Given the description of an element on the screen output the (x, y) to click on. 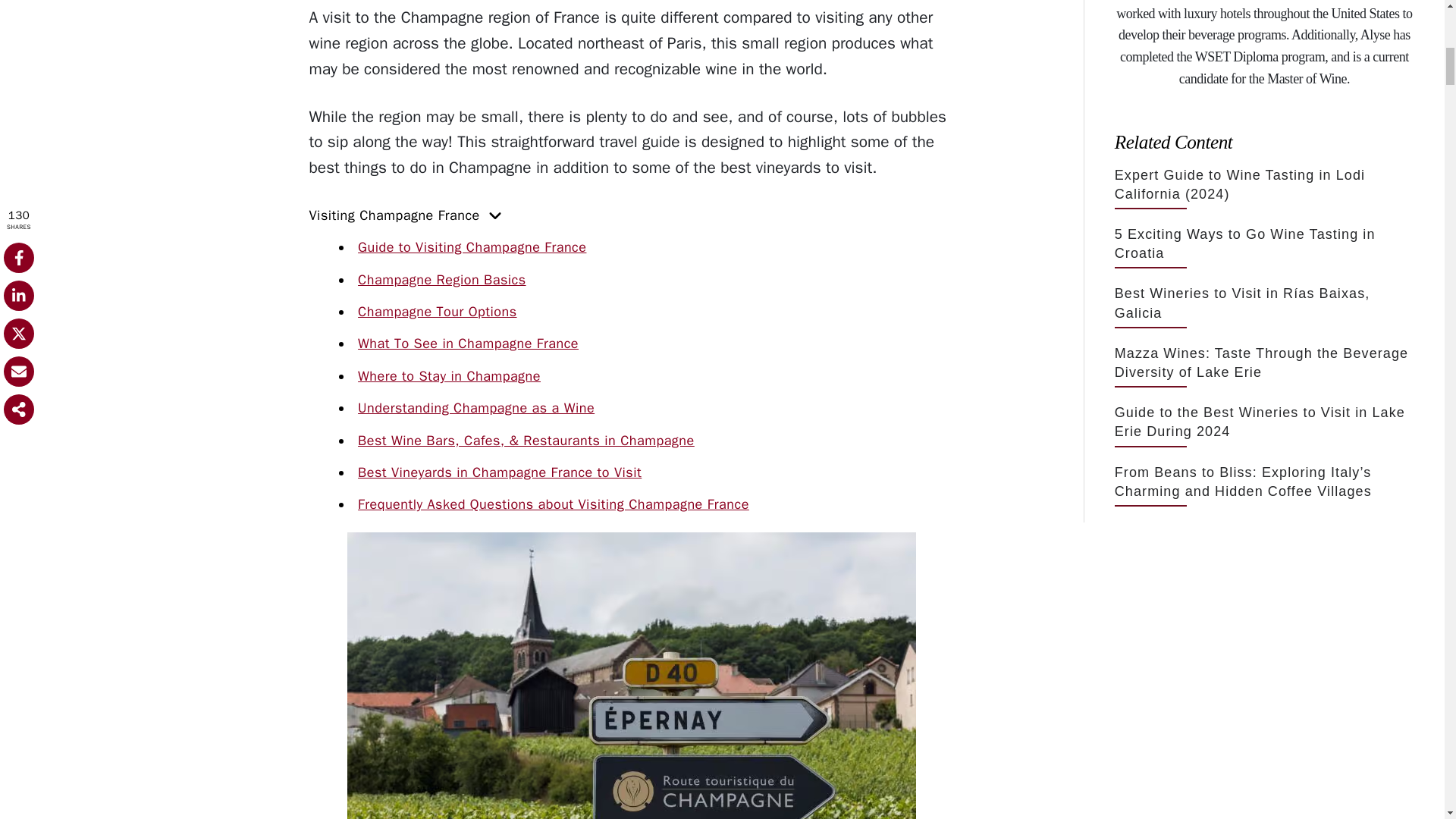
Best Vineyards in Champagne France to Visit (500, 472)
What To See in Champagne France (468, 343)
Champagne Tour Options (437, 311)
Understanding Champagne as a Wine (476, 407)
Champagne Region Basics (441, 279)
Frequently Asked Questions about Visiting Champagne France (553, 504)
Where to Stay in Champagne (449, 375)
Guide to Visiting Champagne France (472, 247)
